Given the description of an element on the screen output the (x, y) to click on. 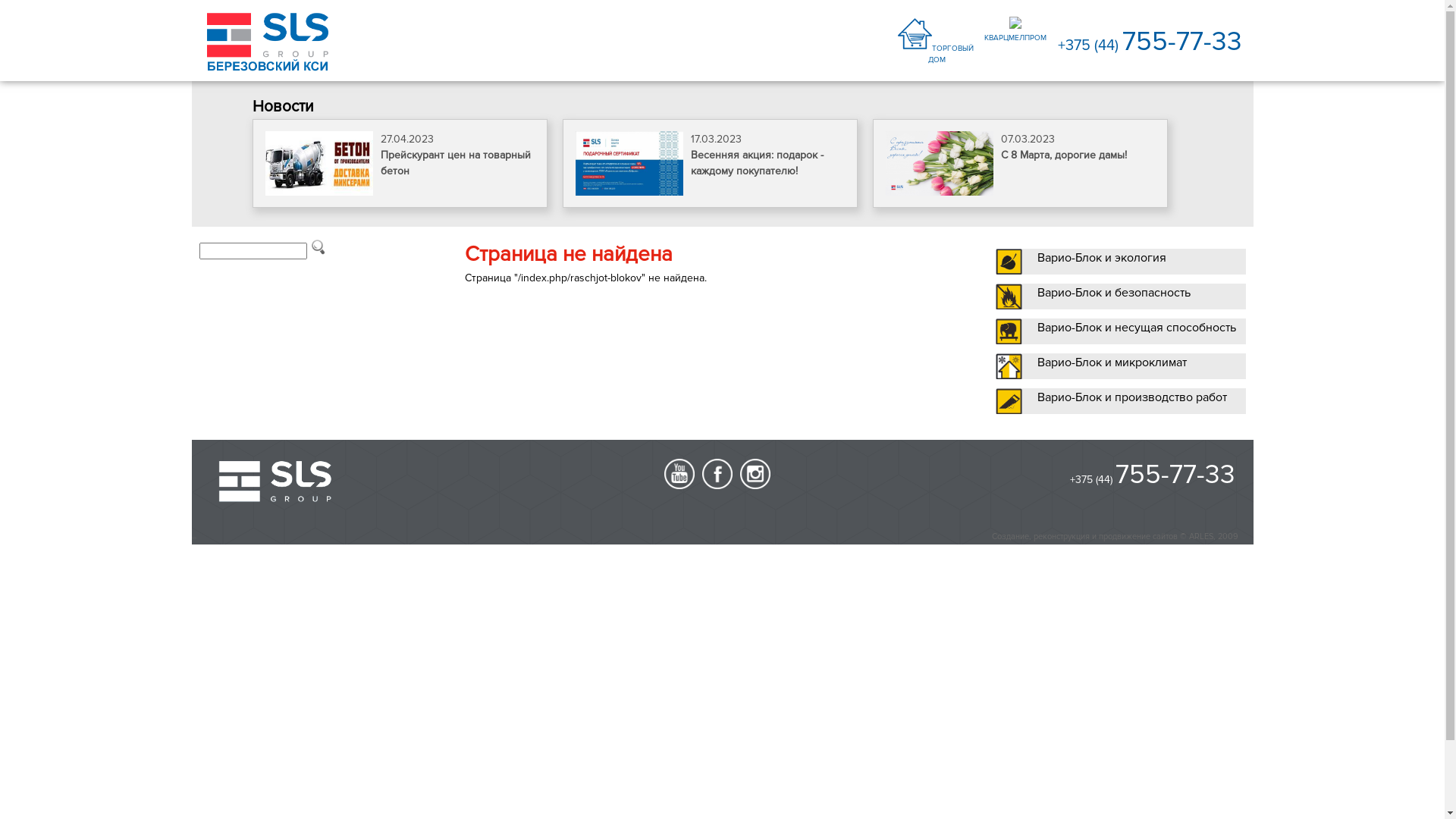
>> Element type: text (193, 538)
